Given the description of an element on the screen output the (x, y) to click on. 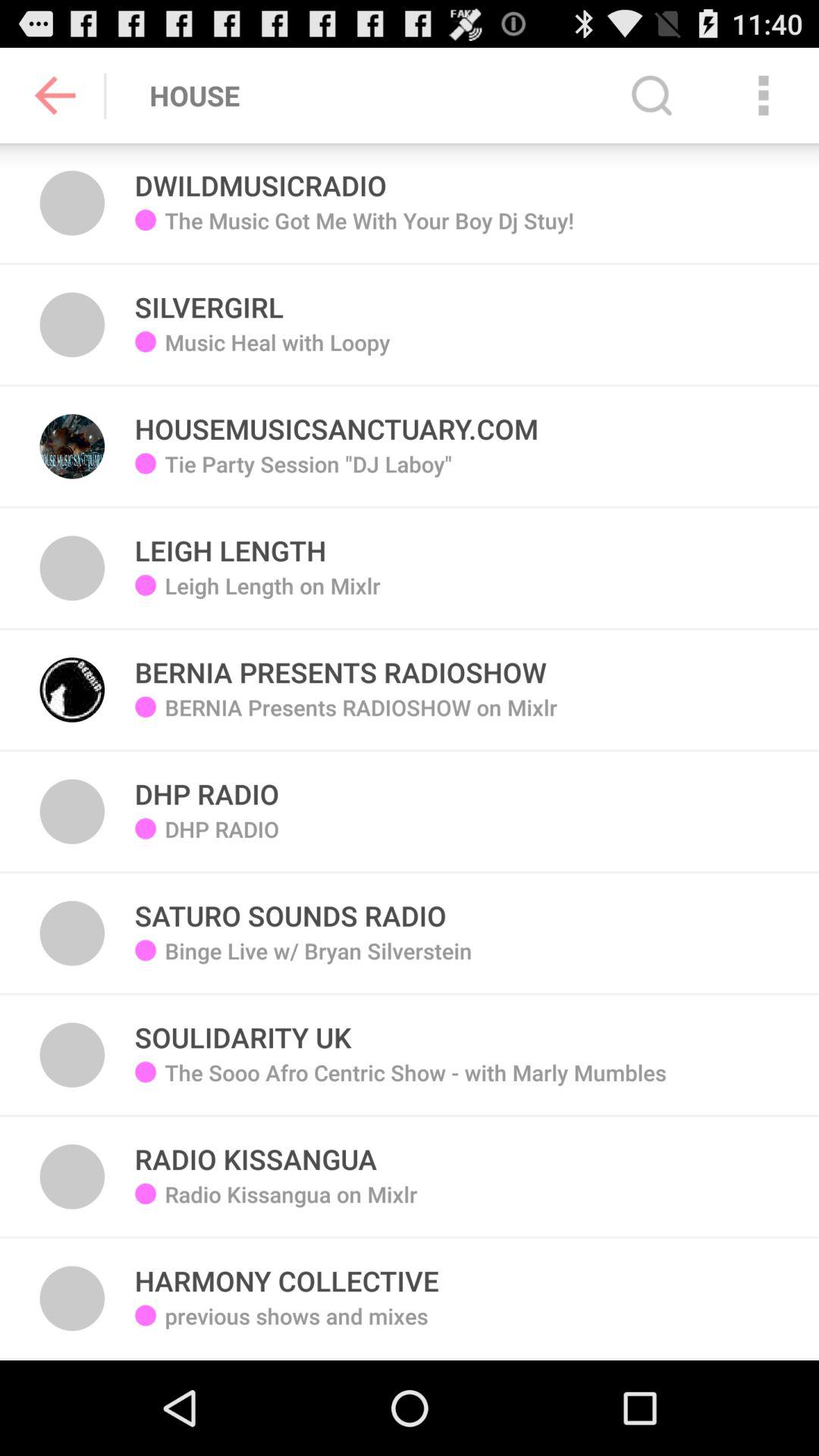
open the item to the right of dwildmusicradio icon (651, 95)
